Given the description of an element on the screen output the (x, y) to click on. 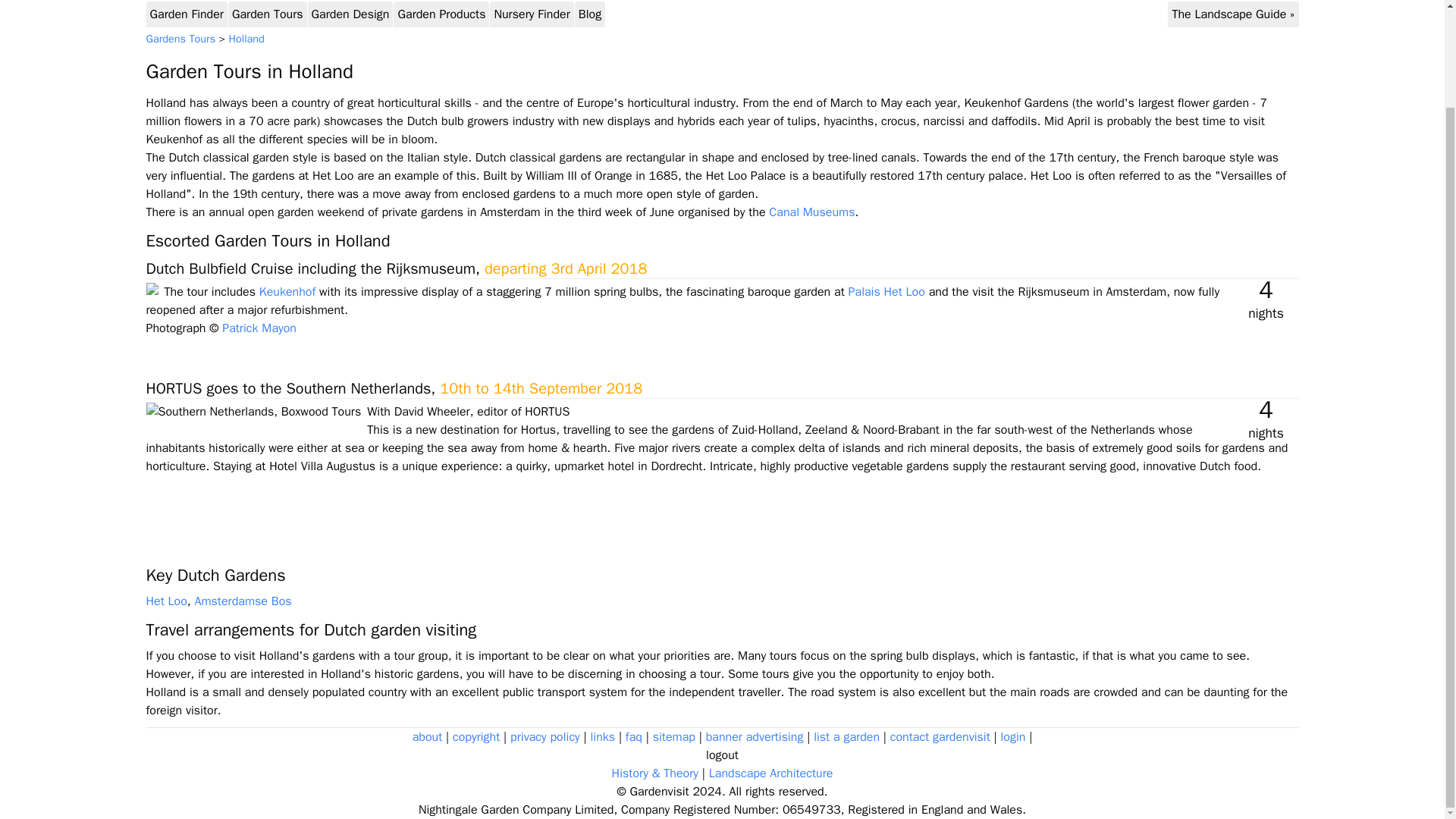
Garden Tours (266, 13)
Blog (589, 13)
Nursery Finder (531, 13)
Garden Design (350, 13)
Garden Products (440, 13)
Garden Finder (186, 13)
